Given the description of an element on the screen output the (x, y) to click on. 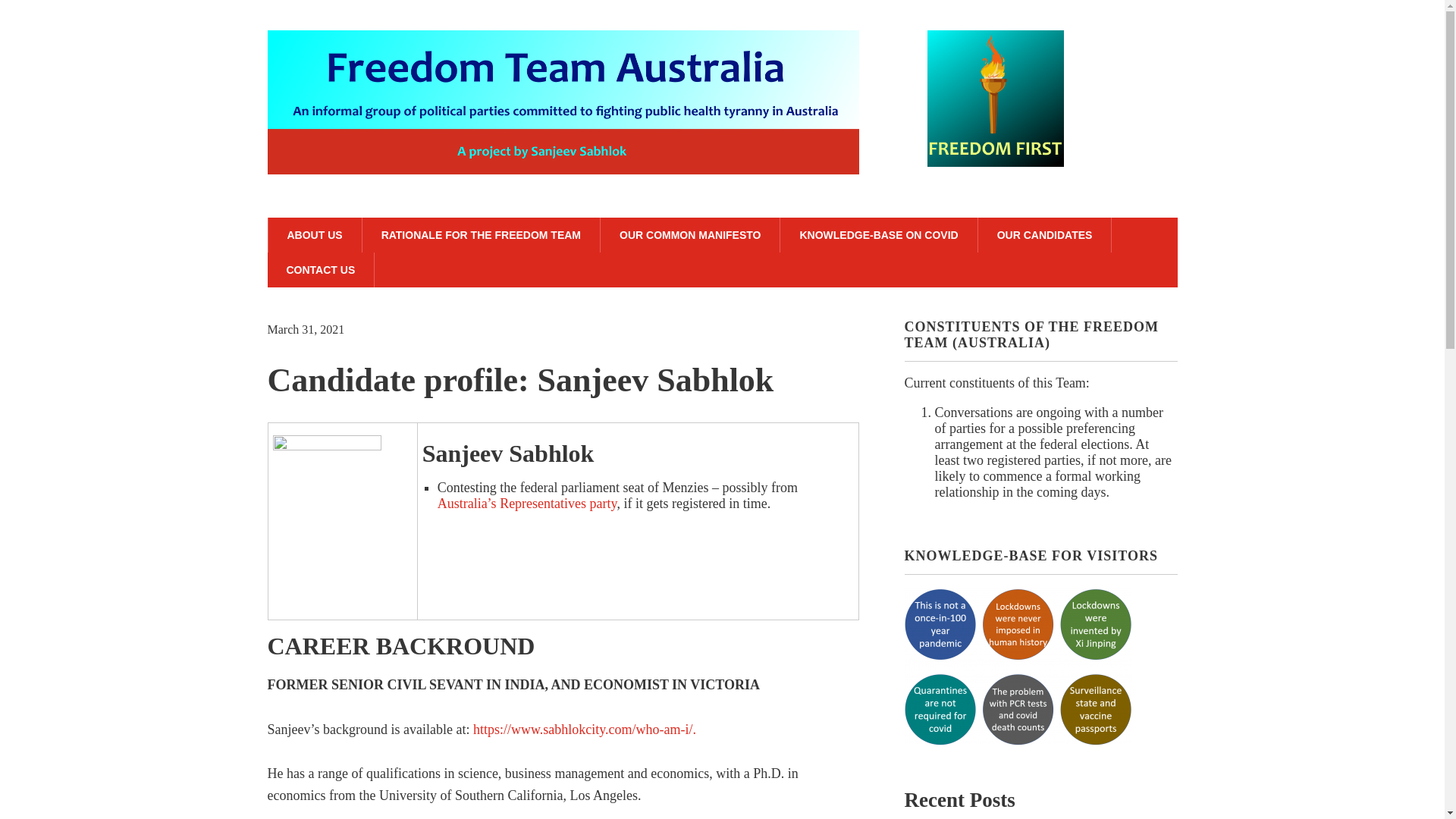
CONTACT US (320, 269)
RATIONALE FOR THE FREEDOM TEAM (480, 234)
Freedom Team Australia (562, 149)
OUR COMMON MANIFESTO (689, 234)
ABOUT US (313, 234)
OUR CANDIDATES (1045, 234)
KNOWLEDGE-BASE ON COVID (878, 234)
